Given the description of an element on the screen output the (x, y) to click on. 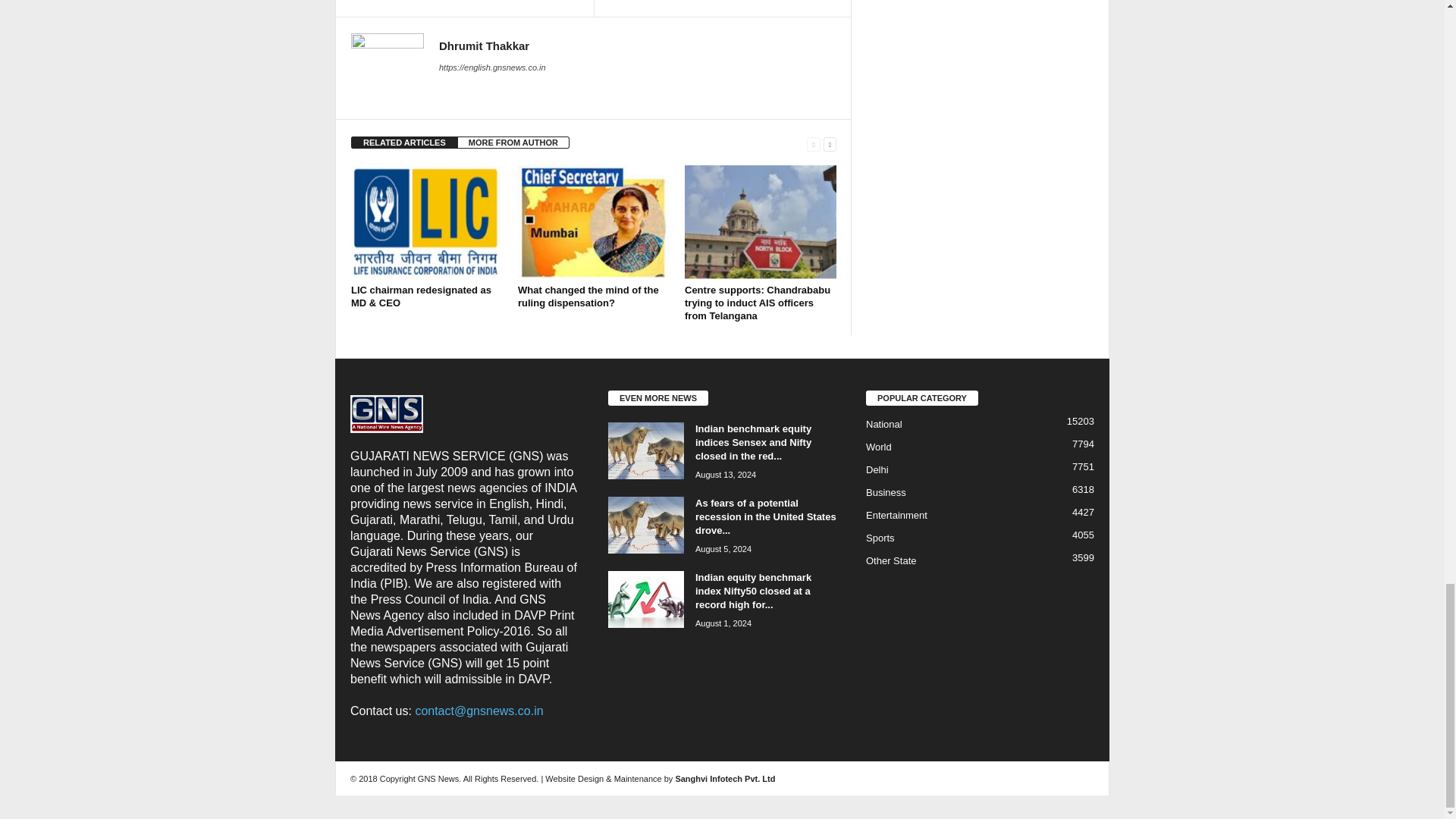
What changed the mind of the ruling dispensation? (593, 222)
What changed the mind of the ruling dispensation? (588, 296)
